Given the description of an element on the screen output the (x, y) to click on. 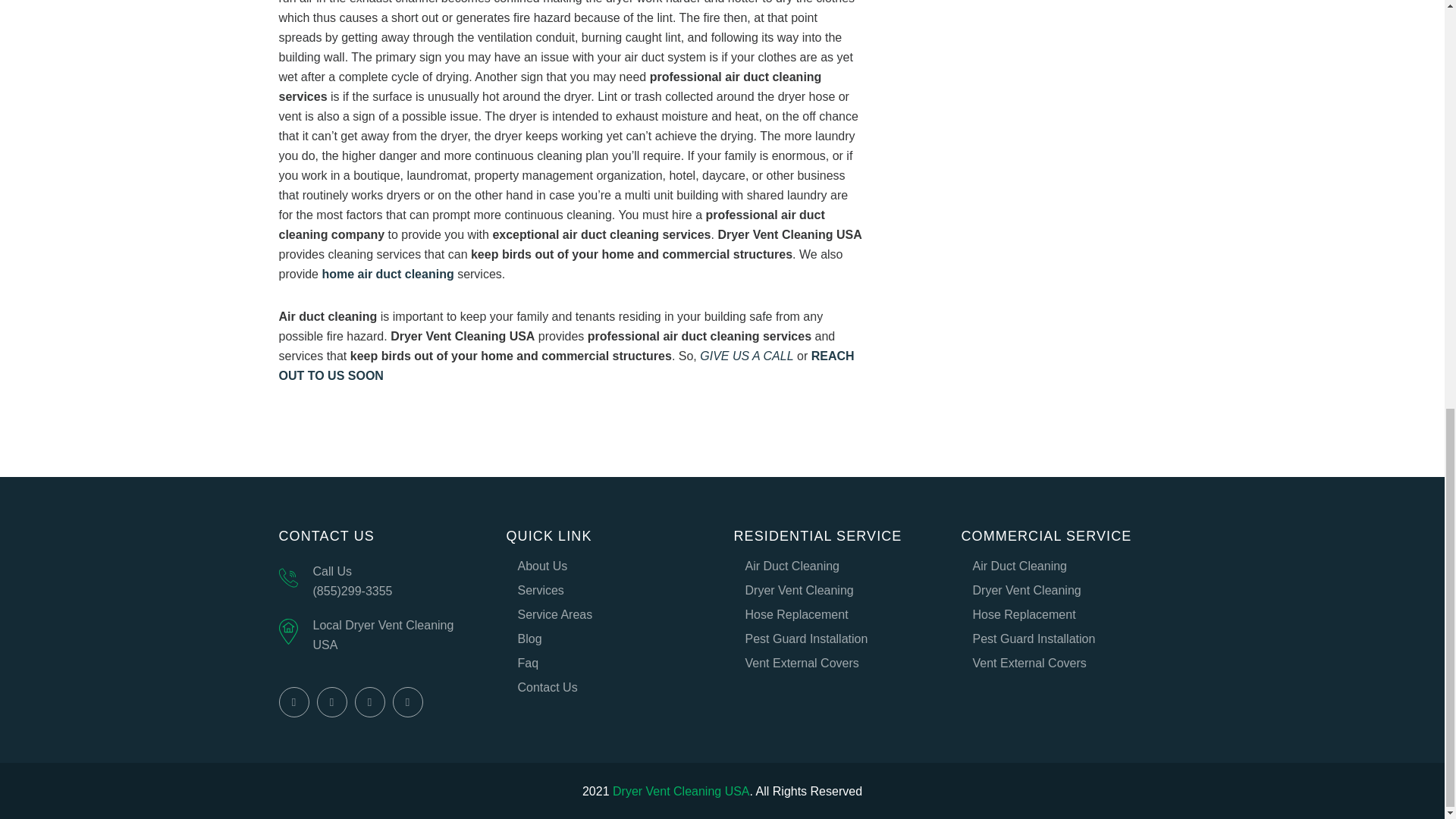
GIVE US A CALL (746, 355)
home air duct cleaning (386, 273)
